Given the description of an element on the screen output the (x, y) to click on. 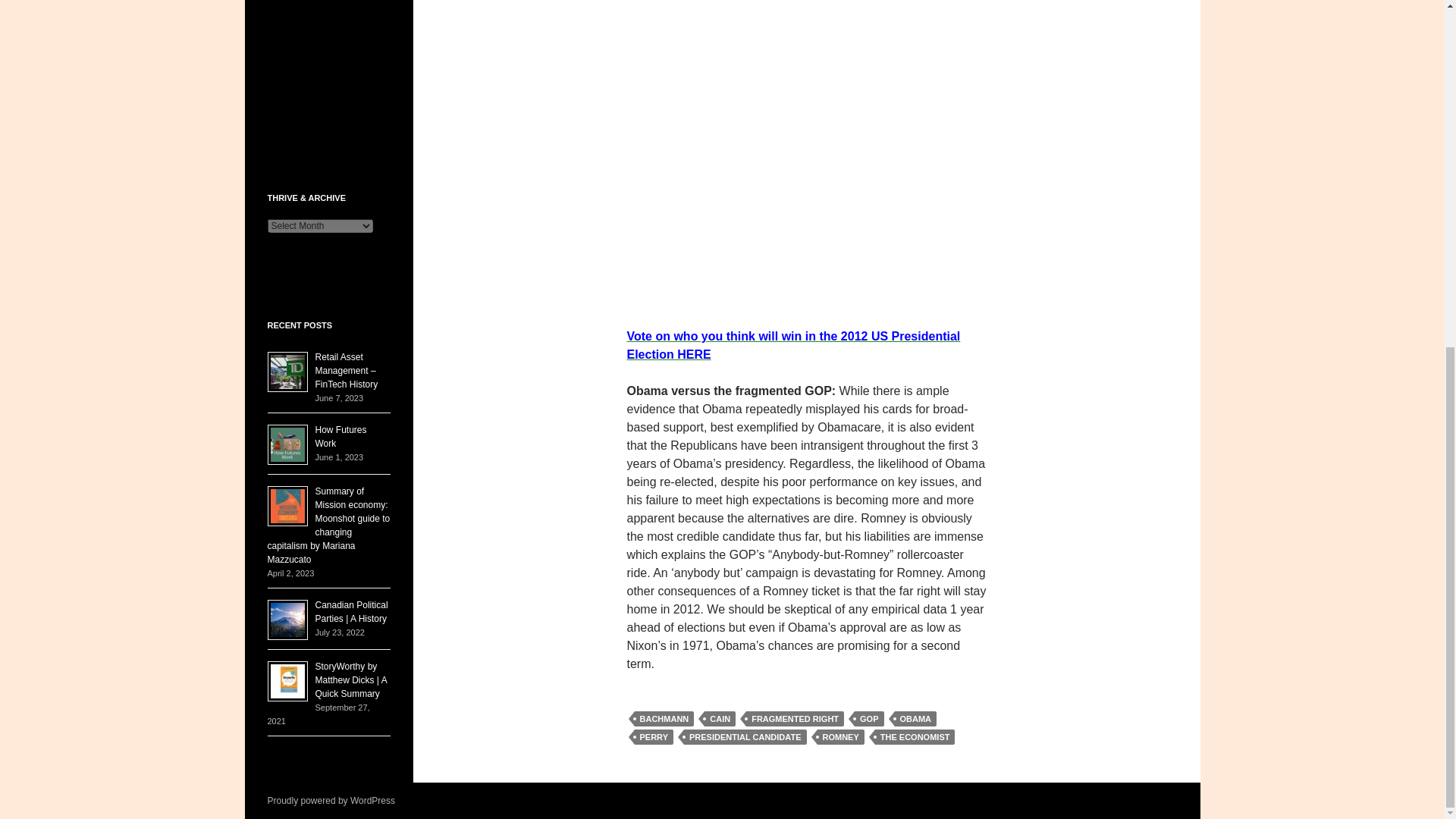
PRESIDENTIAL CANDIDATE (745, 736)
GOP (868, 718)
THE ECONOMIST (915, 736)
ROMNEY (840, 736)
CAIN (719, 718)
OBAMA (916, 718)
BACHMANN (663, 718)
PERRY (652, 736)
FRAGMENTED RIGHT (794, 718)
